Given the description of an element on the screen output the (x, y) to click on. 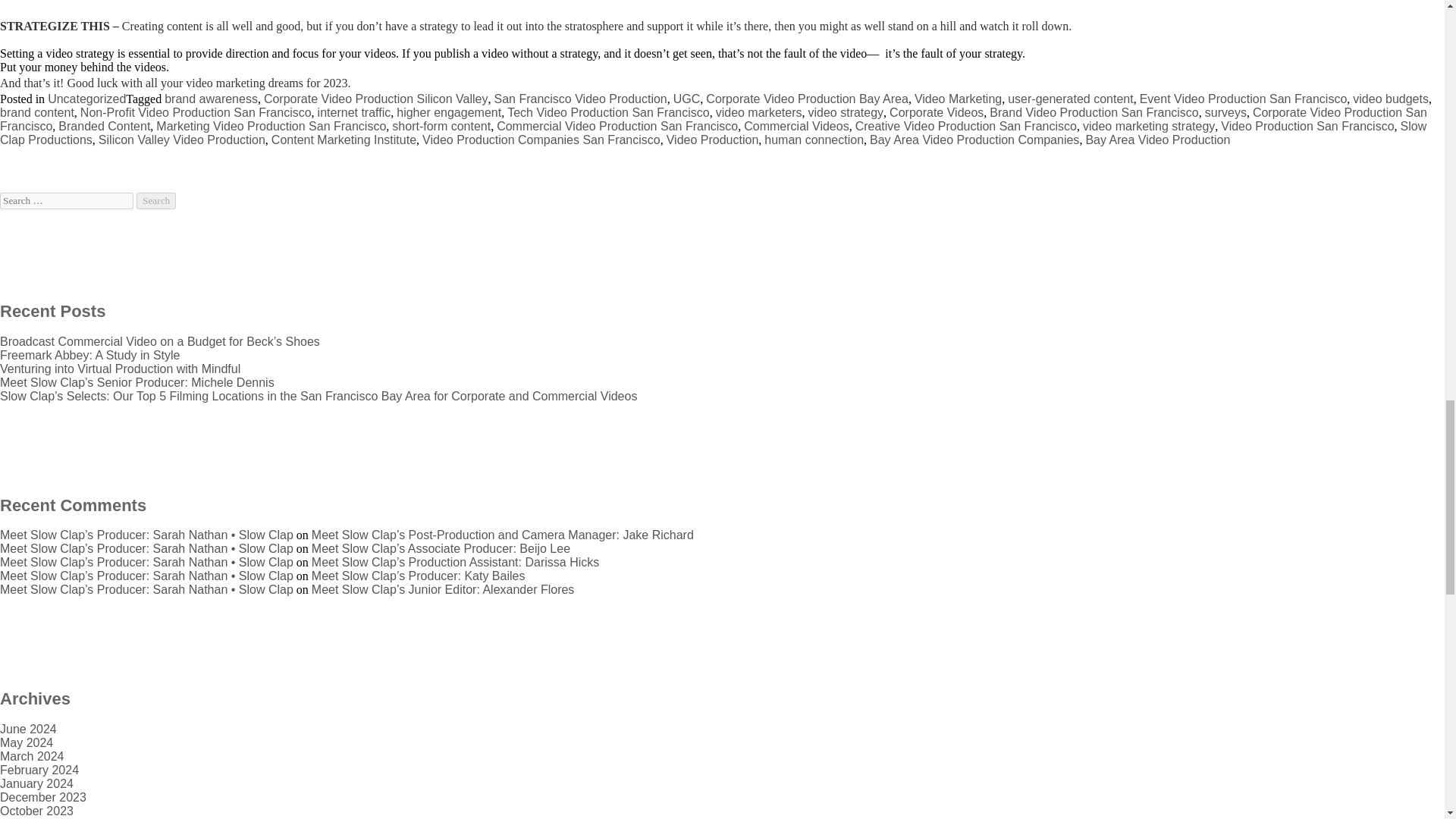
brand awareness (210, 98)
Event Video Production San Francisco (1244, 98)
Corporate Video Production Silicon Valley (375, 98)
Search (156, 200)
brand content (37, 112)
video marketers (759, 112)
higher engagement (448, 112)
Tech Video Production San Francisco (608, 112)
video budgets (1390, 98)
San Francisco Video Production (579, 98)
Search (156, 200)
Non-Profit Video Production San Francisco (195, 112)
Uncategorized (86, 98)
Corporate Video Production Bay Area (807, 98)
UGC (686, 98)
